Given the description of an element on the screen output the (x, y) to click on. 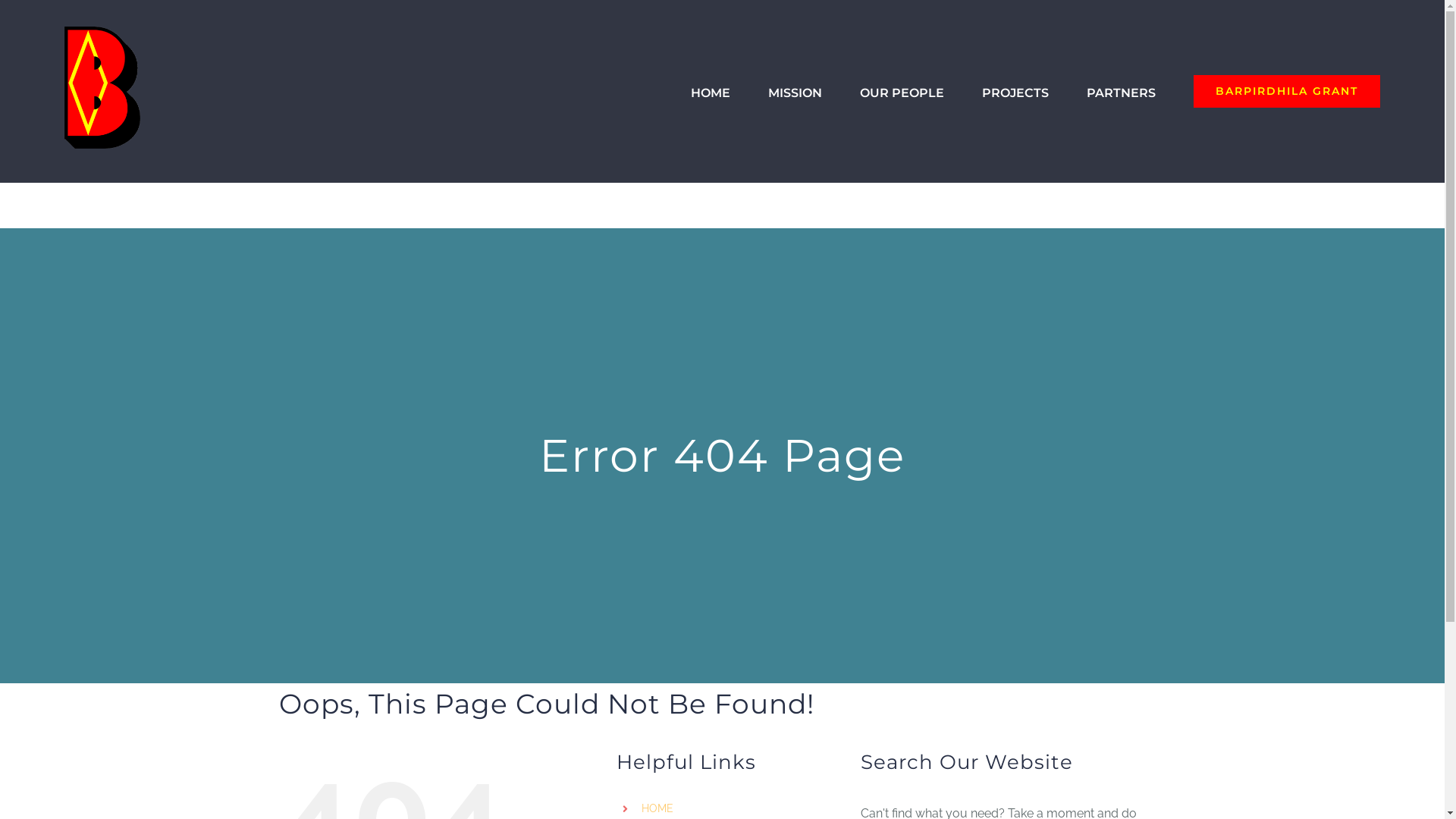
HOME Element type: text (710, 91)
OUR PEOPLE Element type: text (901, 91)
BARPIRDHILA GRANT Element type: text (1286, 91)
HOME Element type: text (657, 808)
PARTNERS Element type: text (1120, 91)
MISSION Element type: text (795, 91)
PROJECTS Element type: text (1015, 91)
